Given the description of an element on the screen output the (x, y) to click on. 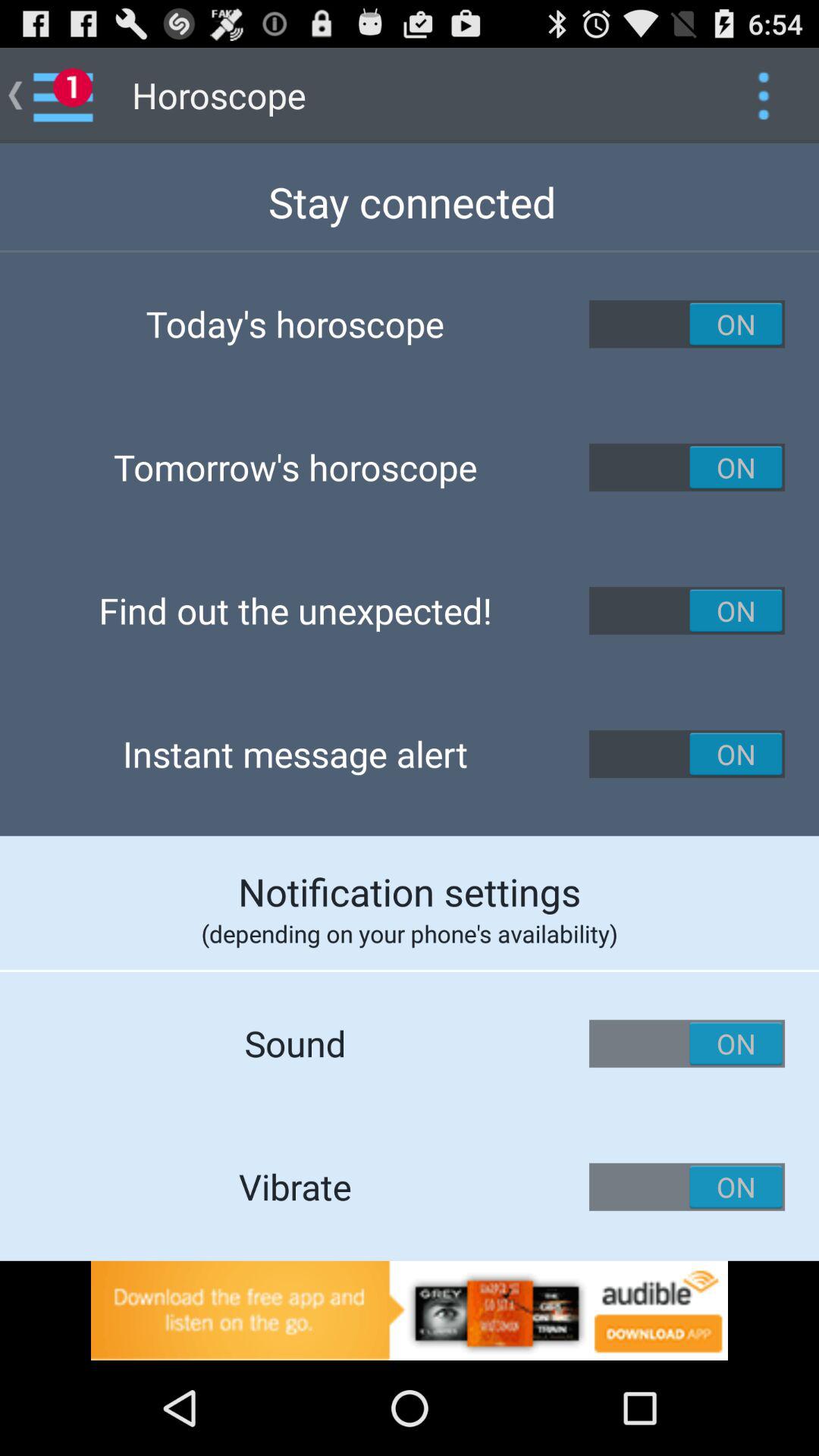
vibrate on button (686, 1186)
